Given the description of an element on the screen output the (x, y) to click on. 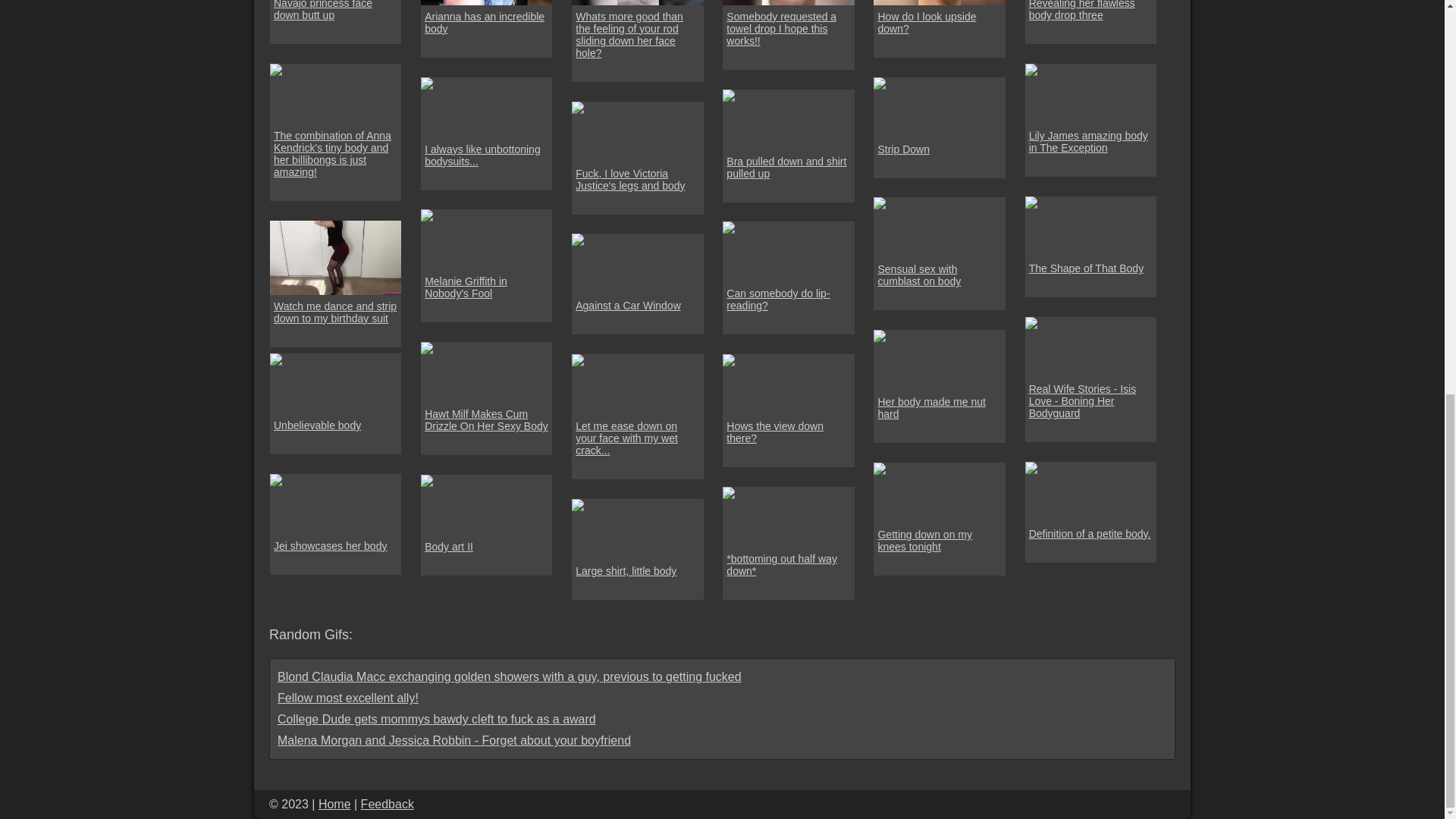
Sensual sex with cumblast on body (939, 274)
Navajo princess face down butt up (335, 10)
Fuck, I love Victoria Justice's legs and body (636, 179)
Arianna has an incredible body (485, 2)
Lily James amazing body in The Exception (1091, 141)
Somebody requested a towel drop I hope this works!! (788, 28)
Revealing her flawless body drop three (1091, 10)
Arianna has an incredible body (486, 22)
Melanie Griffith in Nobody's Fool (486, 287)
